Given the description of an element on the screen output the (x, y) to click on. 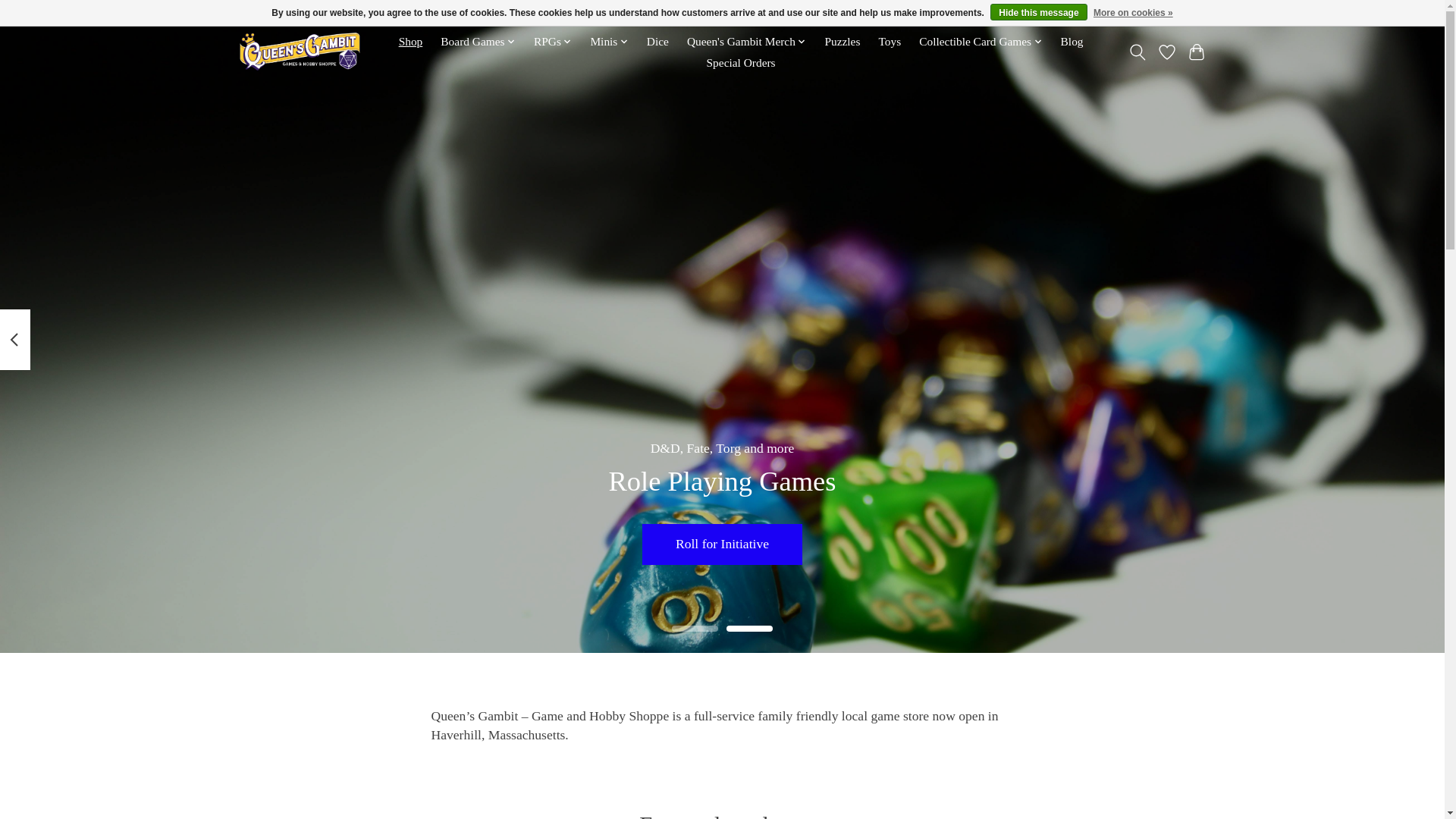
Shop (410, 41)
RPGs (553, 41)
My account (1173, 13)
Board Games (478, 41)
Minis (609, 41)
Dice (658, 41)
